Given the description of an element on the screen output the (x, y) to click on. 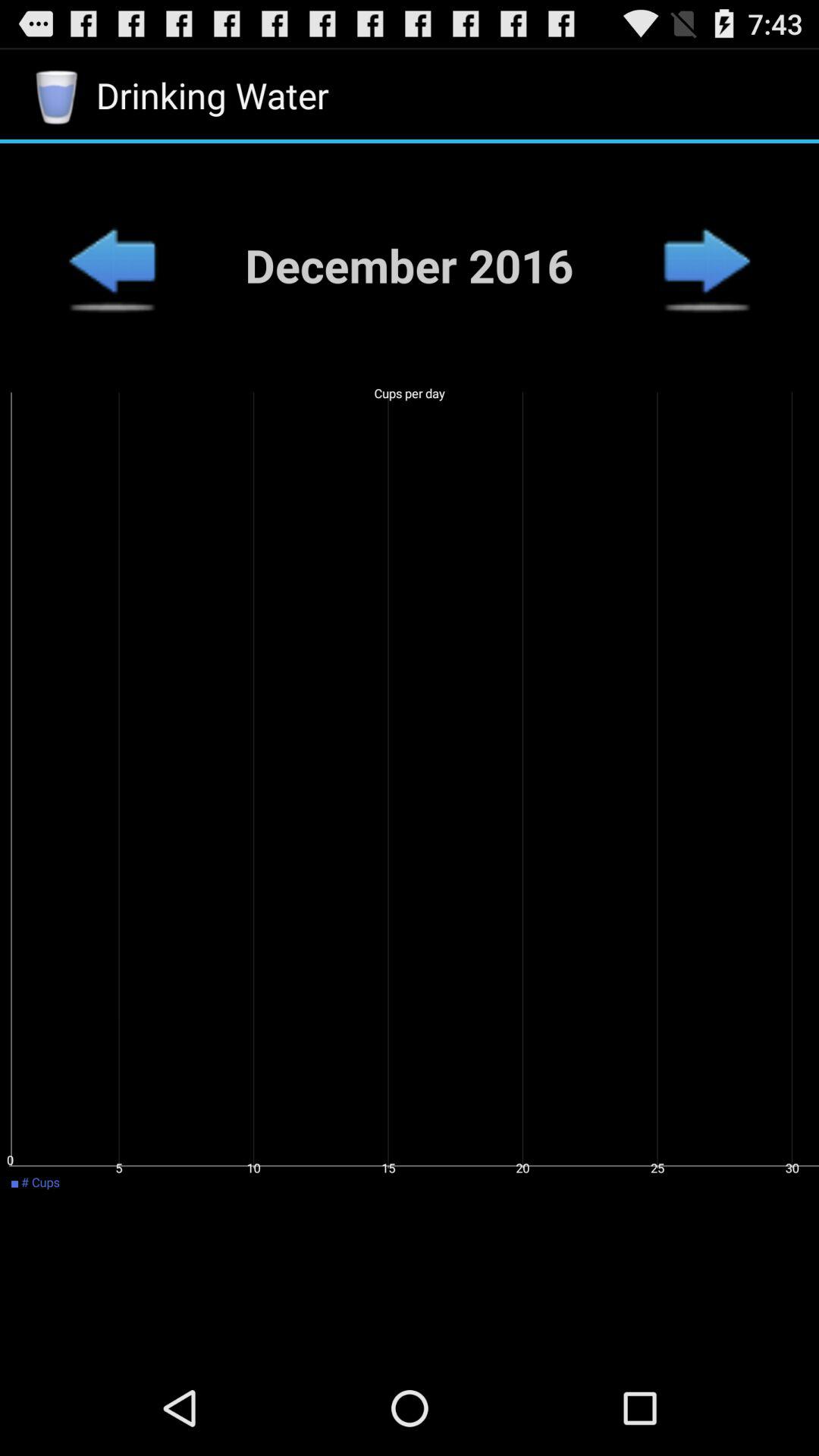
go next (706, 264)
